Given the description of an element on the screen output the (x, y) to click on. 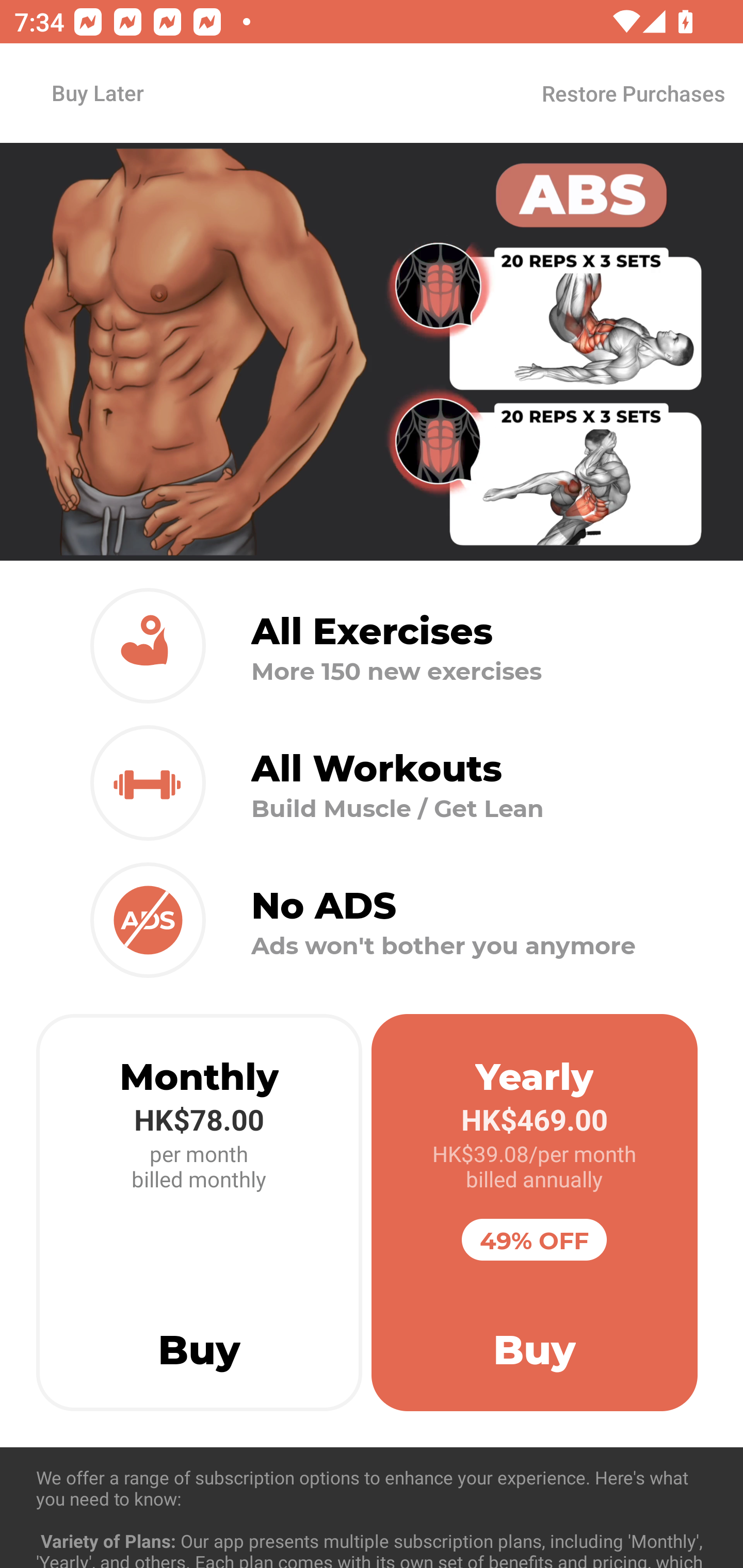
Restore Purchases (632, 92)
Buy Later (96, 92)
Monthly HK$78.00 per month
billed monthly Buy (199, 1212)
